Given the description of an element on the screen output the (x, y) to click on. 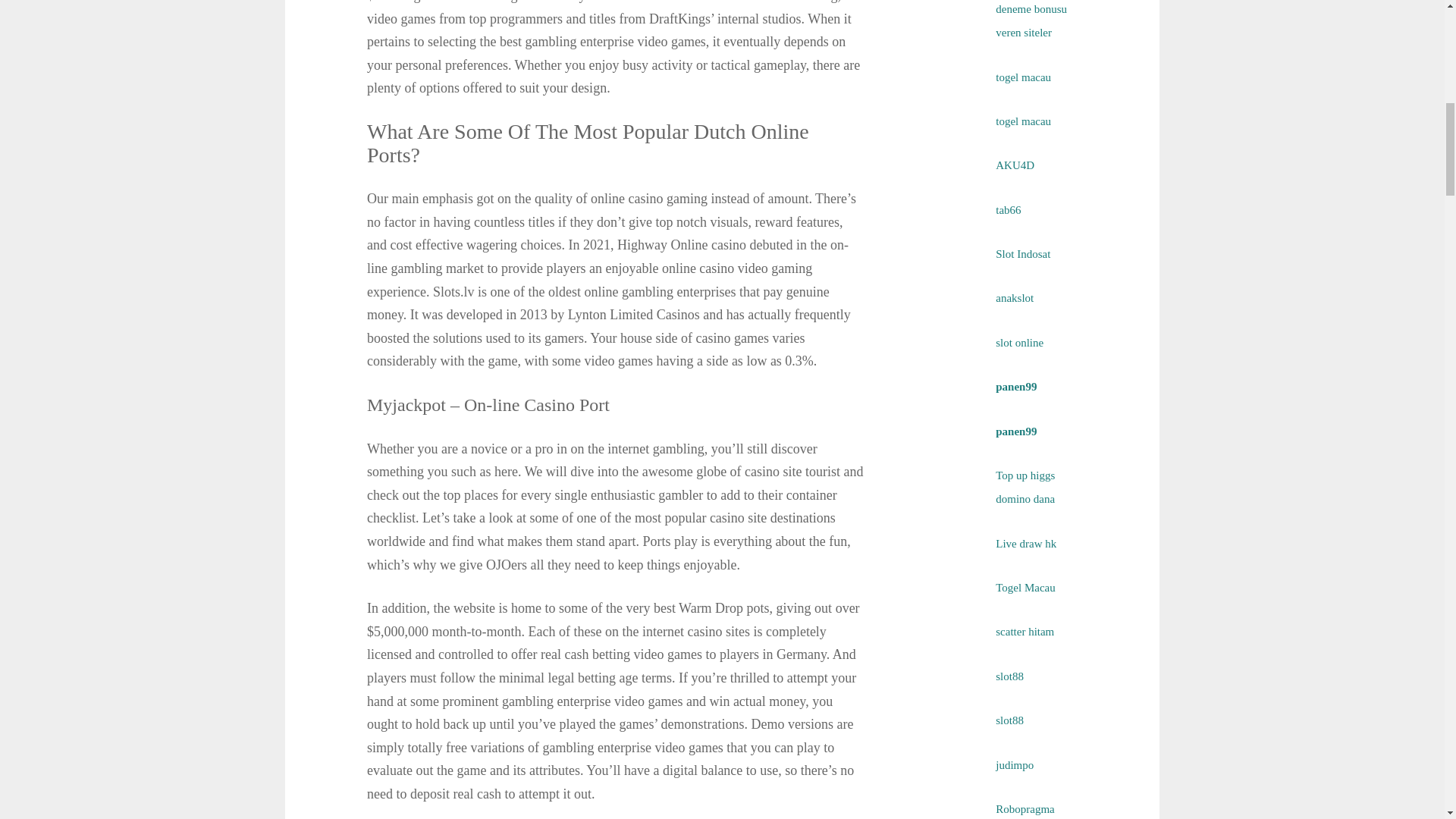
tab66 (1007, 209)
slot online (1019, 342)
deneme bonusu veren siteler (1031, 20)
Top up higgs domino dana (1024, 487)
Togel Macau (1025, 587)
panen99 (1015, 386)
Slot Indosat (1022, 254)
Live draw hk (1026, 543)
AKU4D (1014, 164)
togel macau (1023, 121)
